Given the description of an element on the screen output the (x, y) to click on. 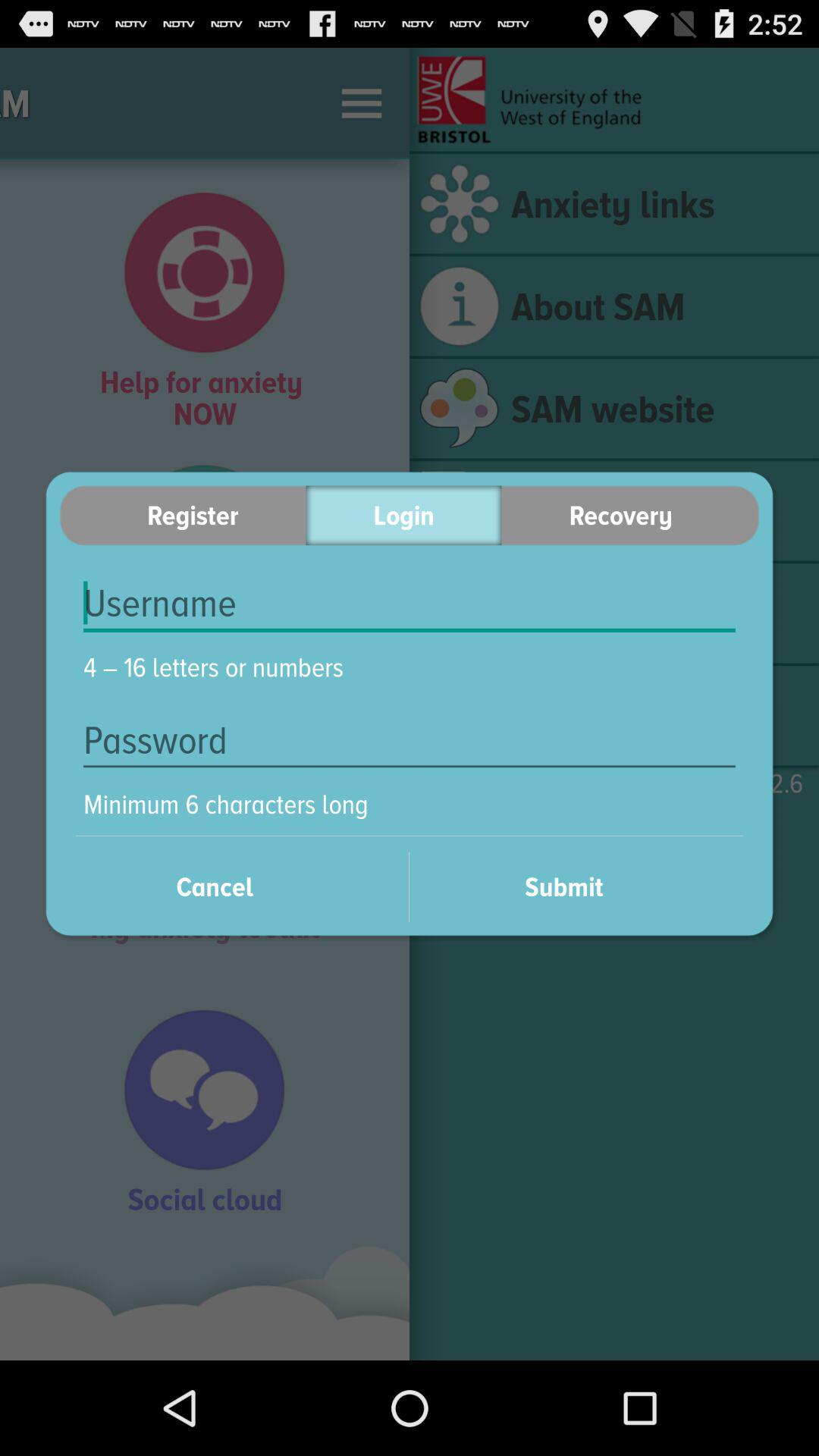
open the item above the minimum 6 characters (409, 740)
